Given the description of an element on the screen output the (x, y) to click on. 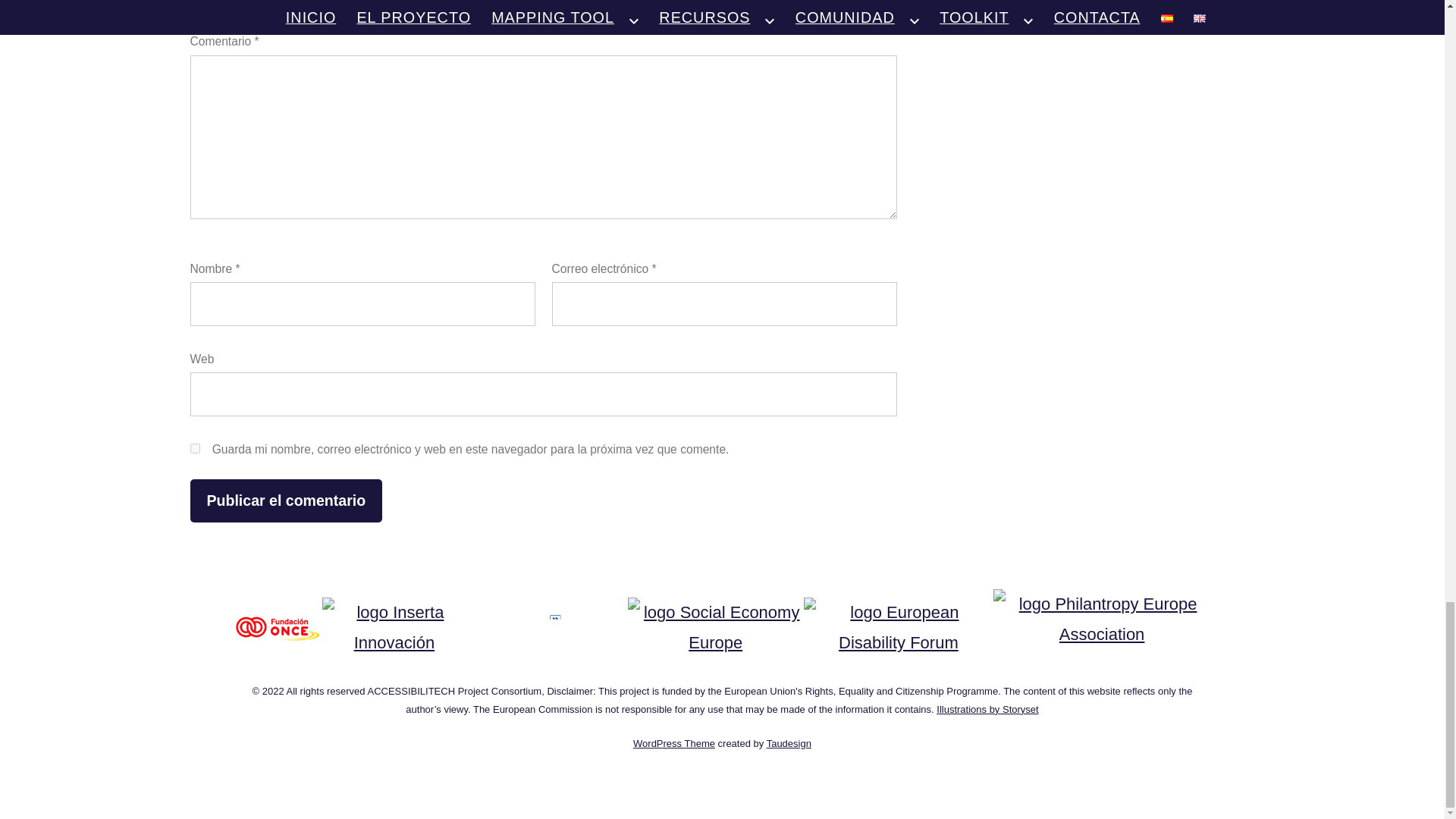
Publicar el comentario (285, 500)
yes (194, 448)
